Given the description of an element on the screen output the (x, y) to click on. 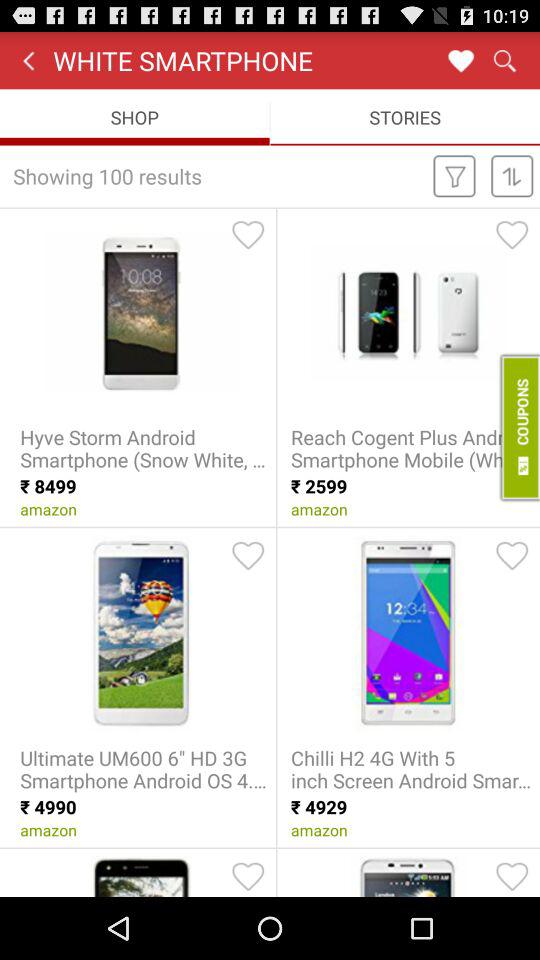
like this item (512, 234)
